Given the description of an element on the screen output the (x, y) to click on. 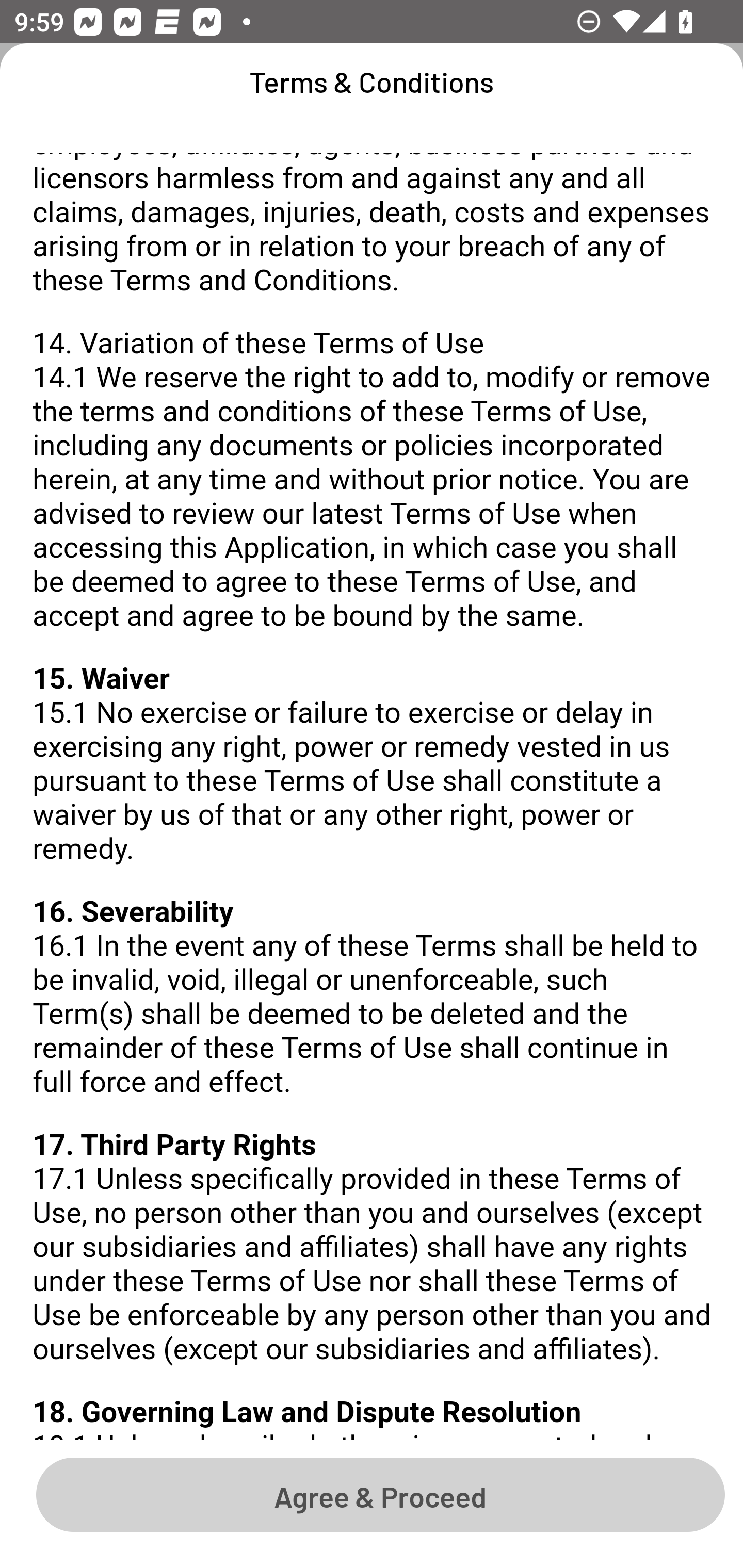
Agree & Proceed (380, 1494)
